Given the description of an element on the screen output the (x, y) to click on. 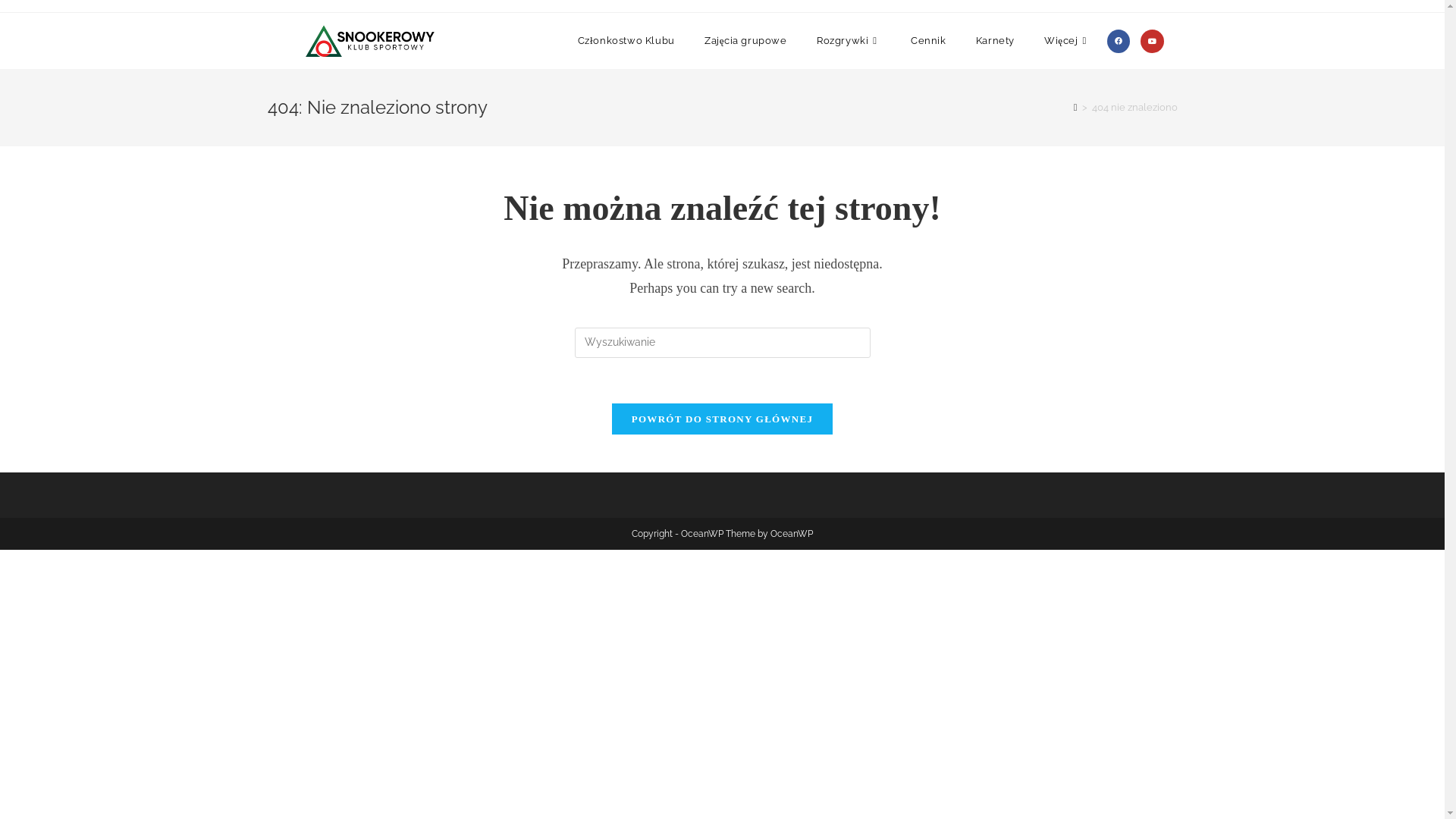
Rozgrywki Element type: text (848, 40)
Cennik Element type: text (927, 40)
Karnety Element type: text (994, 40)
